Given the description of an element on the screen output the (x, y) to click on. 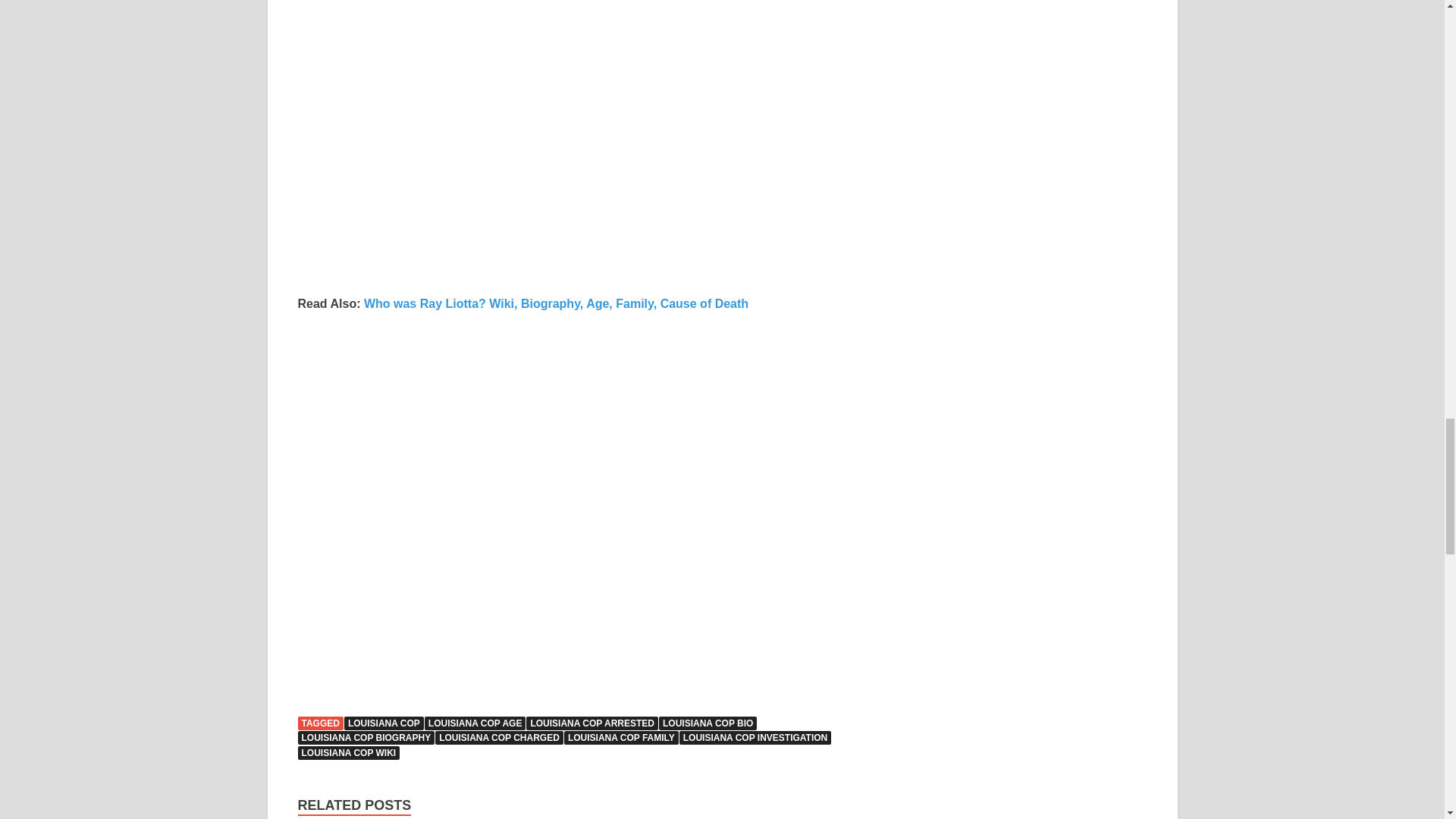
LOUISIANA COP CHARGED (499, 737)
LOUISIANA COP AGE (475, 723)
LOUISIANA COP FAMILY (621, 737)
LOUISIANA COP BIOGRAPHY (365, 737)
LOUISIANA COP BIO (708, 723)
LOUISIANA COP WIKI (347, 753)
LOUISIANA COP INVESTIGATION (755, 737)
LOUISIANA COP ARRESTED (591, 723)
LOUISIANA COP (383, 723)
